Given the description of an element on the screen output the (x, y) to click on. 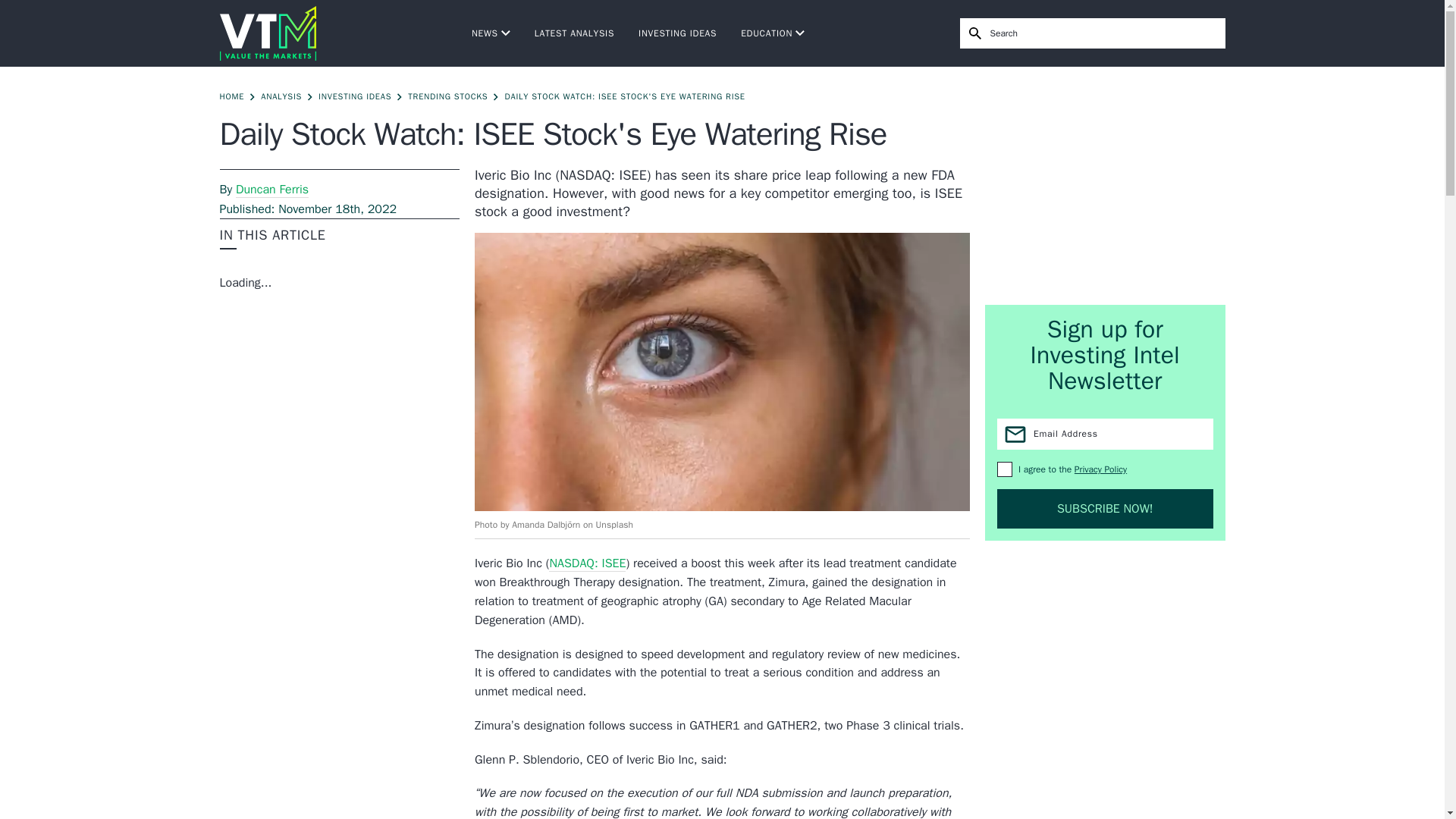
HOME (231, 96)
LATEST ANALYSIS (574, 33)
ANALYSIS (280, 96)
EDUCATION (773, 33)
NASDAQ: ISEE (587, 563)
Duncan Ferris (271, 189)
DAILY STOCK WATCH: ISEE STOCK'S EYE WATERING RISE (623, 96)
TRENDING STOCKS (447, 96)
Yes (1004, 468)
Advertisement (1105, 185)
INVESTING IDEAS (677, 33)
NEWS (491, 33)
INVESTING IDEAS (354, 96)
Advertisement (1104, 685)
